Given the description of an element on the screen output the (x, y) to click on. 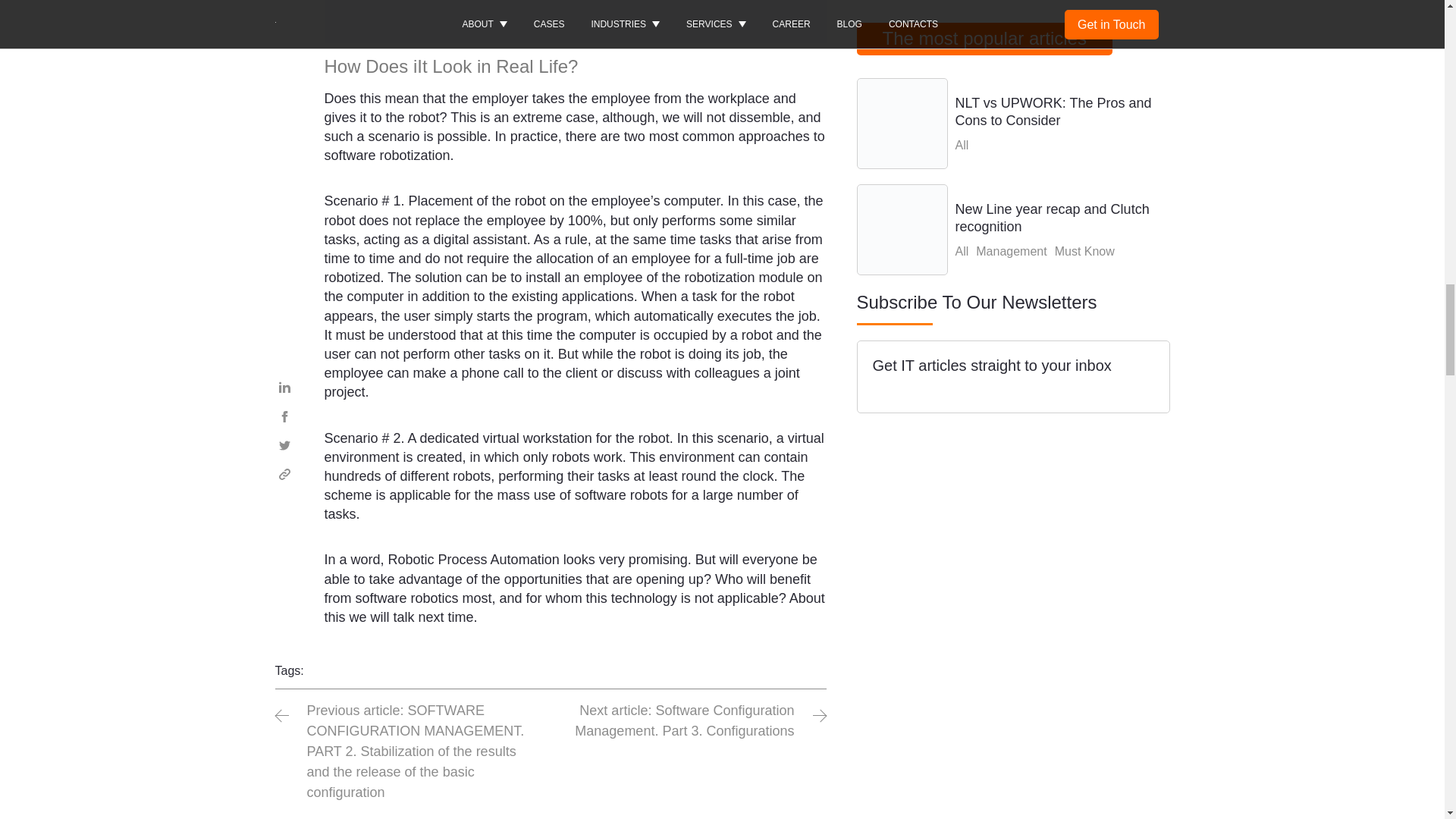
Software Configuration Management. Part 3. Configurations (688, 721)
